Given the description of an element on the screen output the (x, y) to click on. 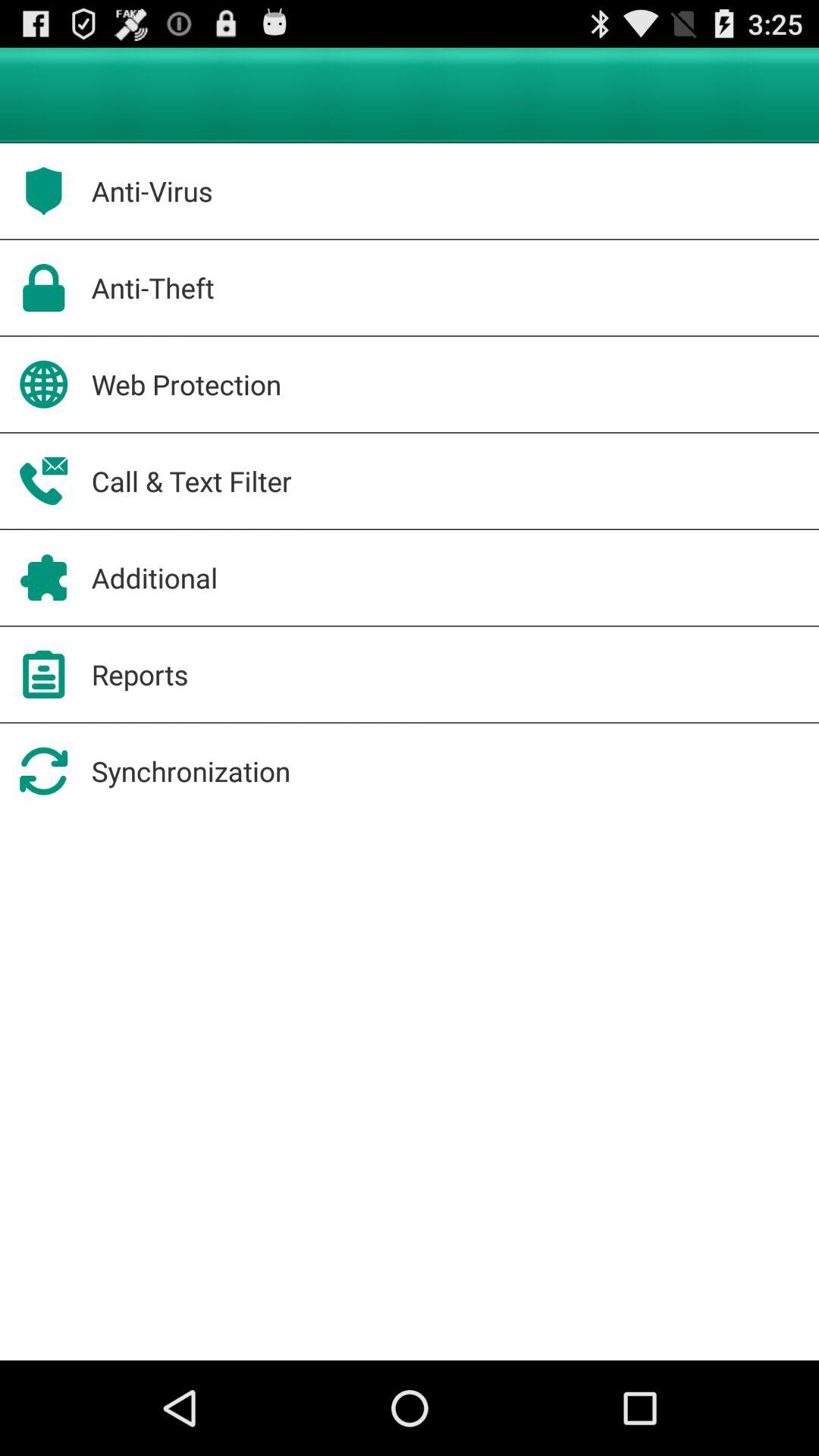
launch the icon above web protection app (152, 287)
